Given the description of an element on the screen output the (x, y) to click on. 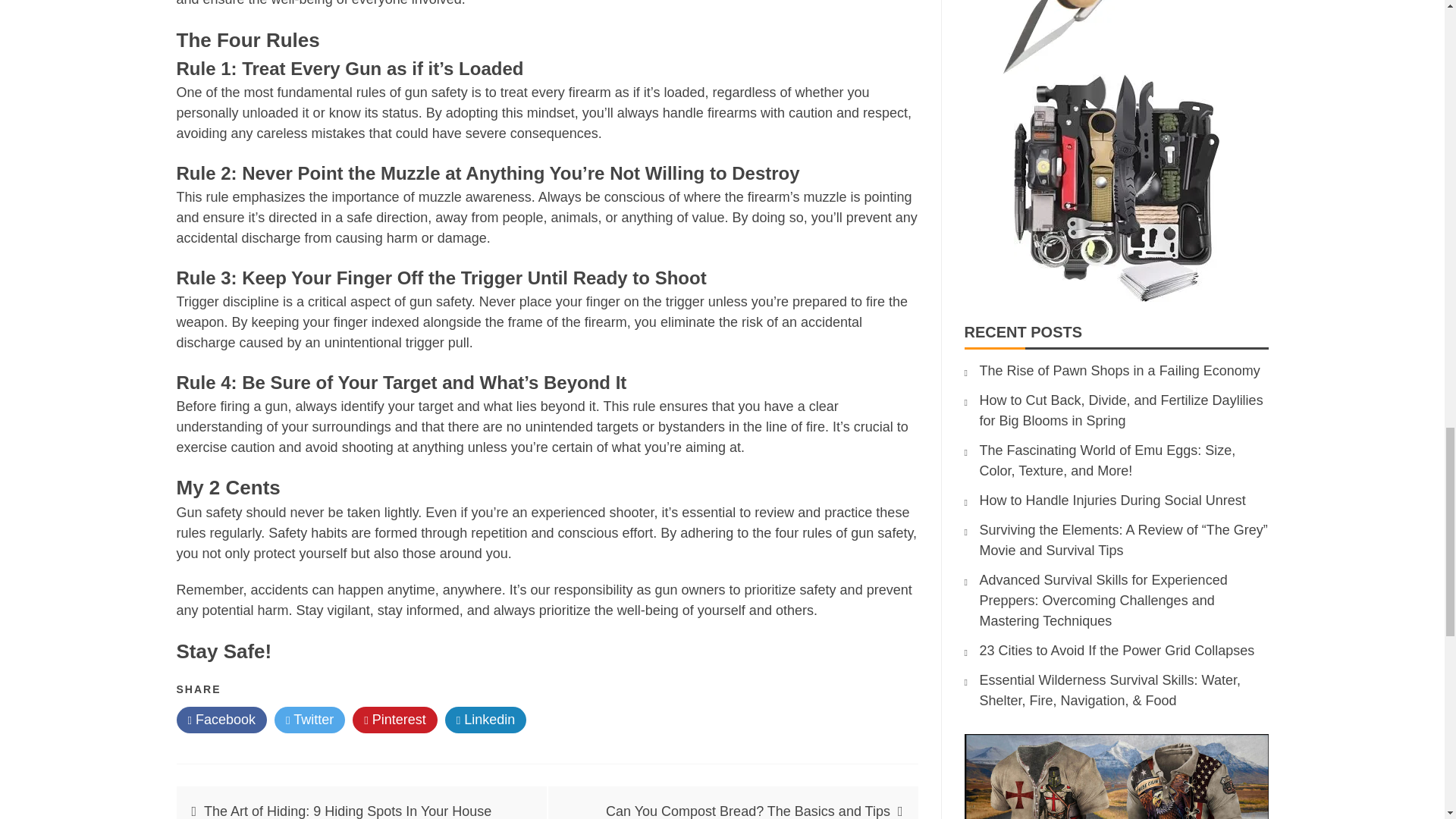
The Art of Hiding: 9 Hiding Spots In Your House (347, 811)
Can You Compost Bread? The Basics and Tips (747, 811)
Linkedin (486, 719)
Twitter (310, 719)
Facebook (221, 719)
Pinterest (395, 719)
